Given the description of an element on the screen output the (x, y) to click on. 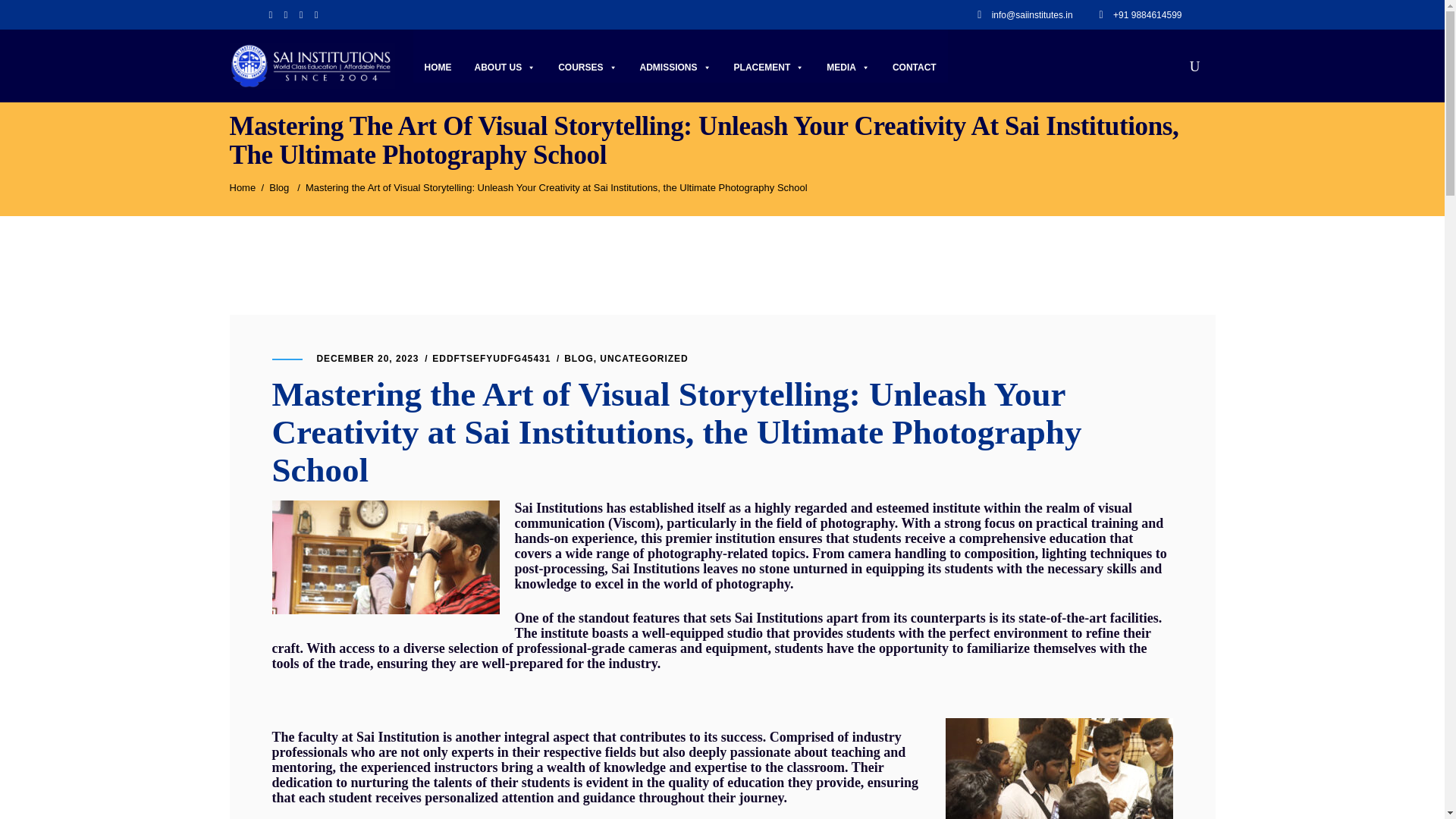
ABOUT US (505, 67)
HOME (438, 67)
PLACEMENT (768, 67)
ADMISSIONS (675, 67)
COURSES (587, 67)
